Given the description of an element on the screen output the (x, y) to click on. 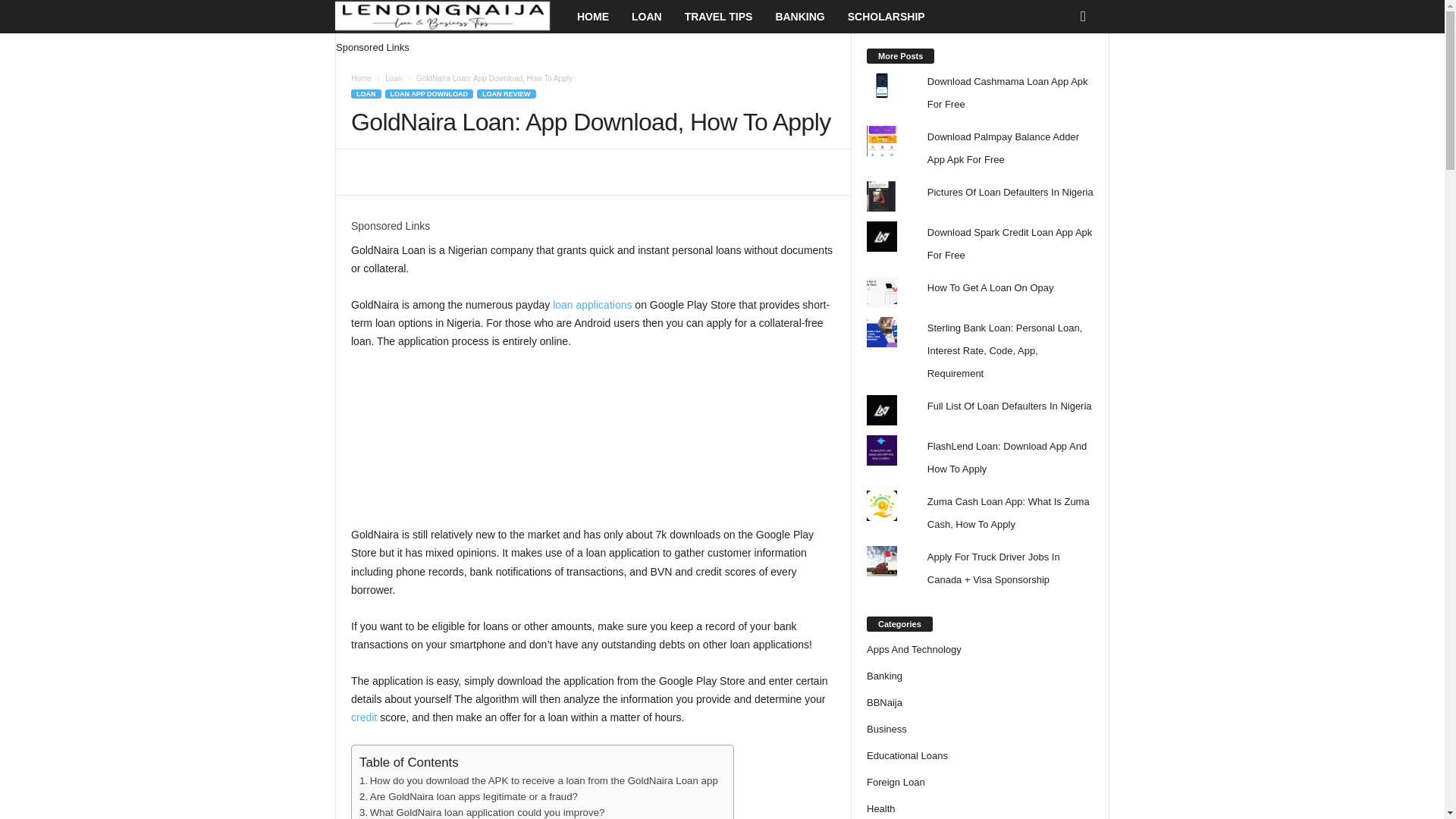
LOAN (646, 16)
HOME (593, 16)
Lending Naija (450, 16)
TRAVEL TIPS (718, 16)
SCHOLARSHIP (885, 16)
What GoldNaira loan application could you improve? (481, 811)
BANKING (798, 16)
View all posts in Loan (393, 78)
Are GoldNaira loan apps legitimate or a fraud? (468, 796)
